Given the description of an element on the screen output the (x, y) to click on. 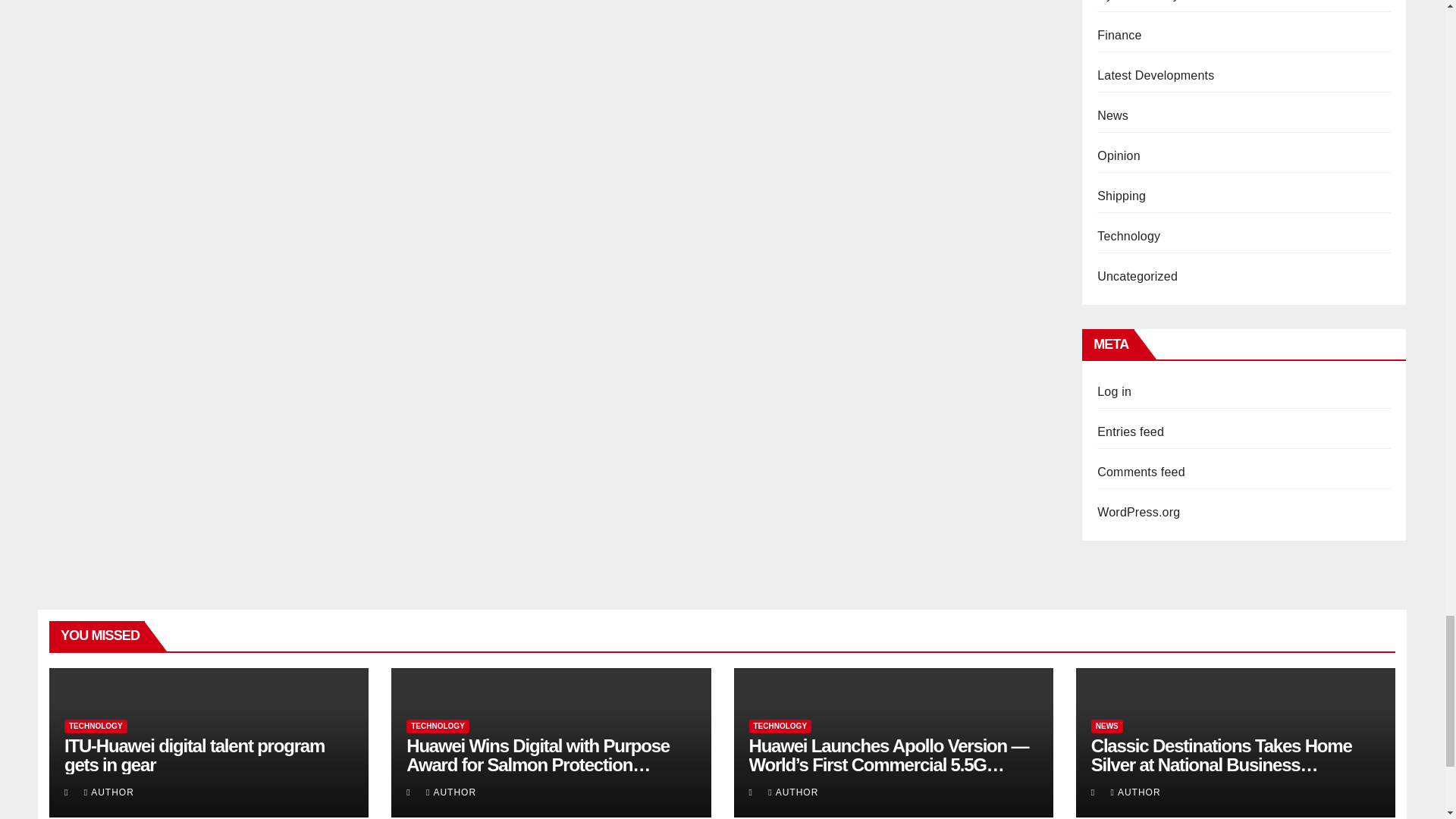
Permalink to: ITU-Huawei digital talent program gets in gear (194, 754)
